Given the description of an element on the screen output the (x, y) to click on. 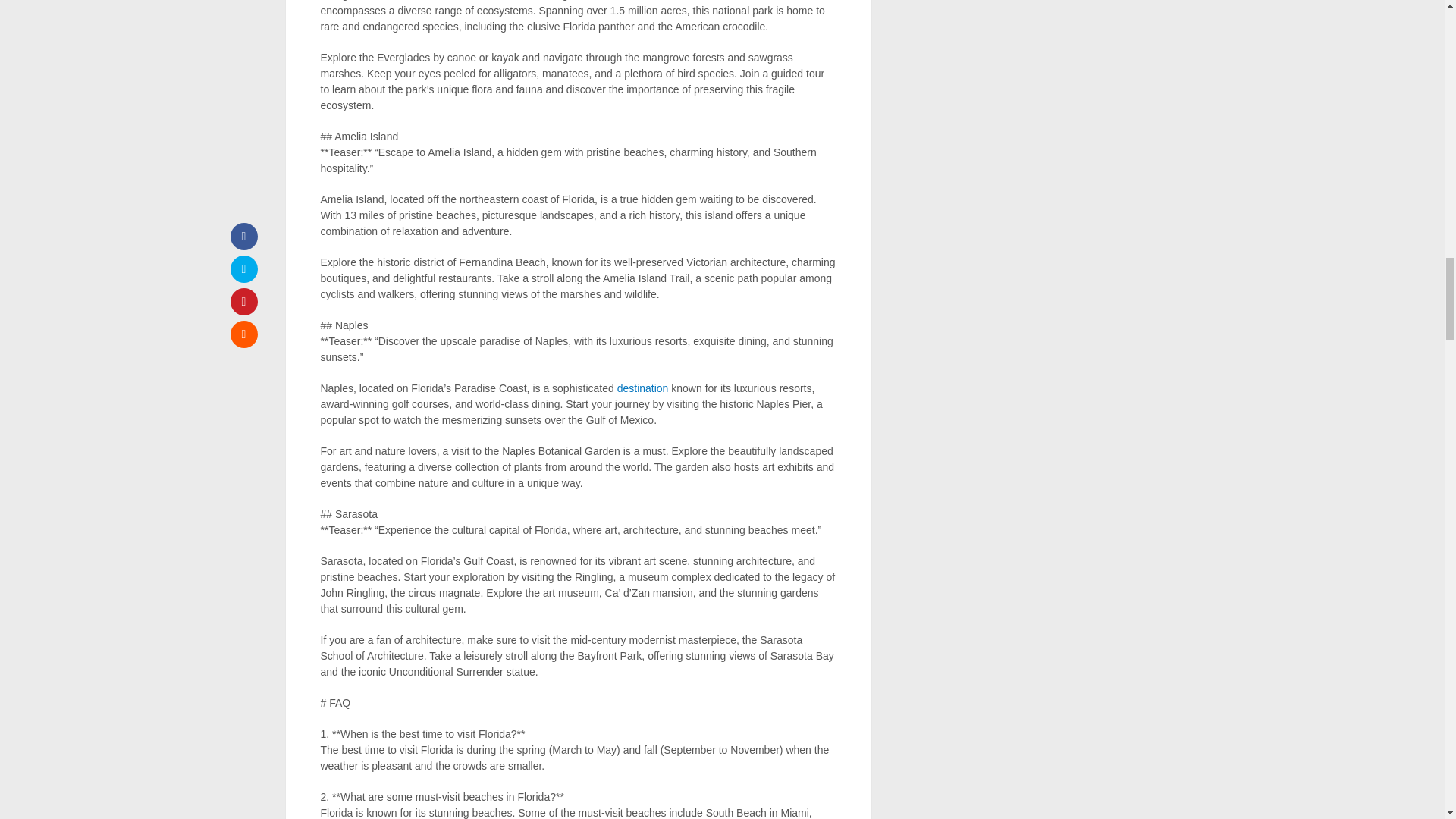
amazon kindle guides (642, 387)
